Given the description of an element on the screen output the (x, y) to click on. 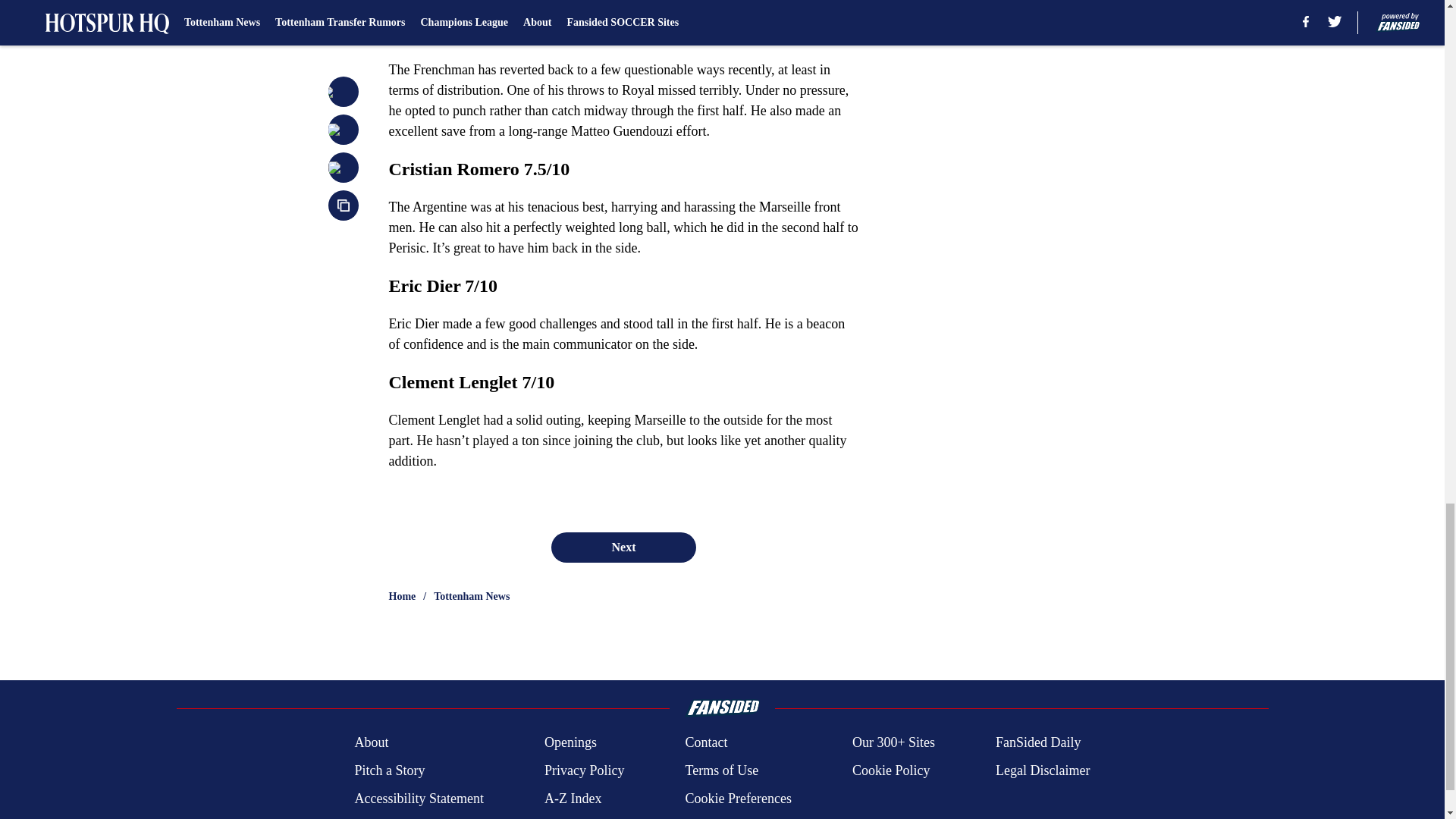
Home (401, 596)
Cookie Preferences (737, 798)
Terms of Use (721, 770)
FanSided Daily (1038, 742)
Pitch a Story (389, 770)
Contact (705, 742)
Privacy Policy (584, 770)
Next (622, 547)
Tottenham News (471, 596)
Cookie Policy (890, 770)
